Given the description of an element on the screen output the (x, y) to click on. 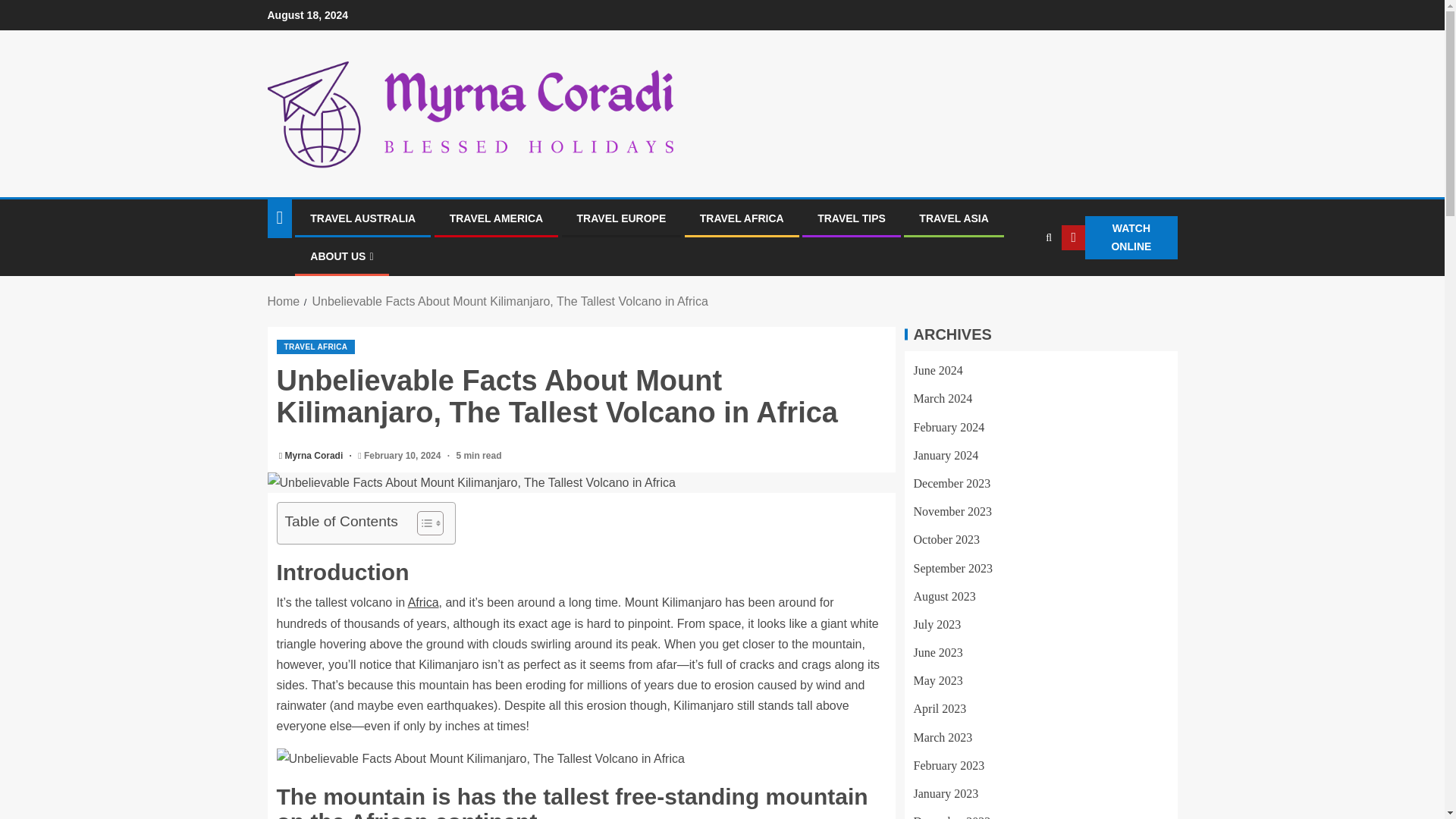
Home (282, 300)
TRAVEL TIPS (850, 218)
ABOUT US (341, 256)
Africa (423, 602)
TRAVEL AFRICA (315, 346)
WATCH ONLINE (1118, 238)
TRAVEL AUSTRALIA (362, 218)
